Given the description of an element on the screen output the (x, y) to click on. 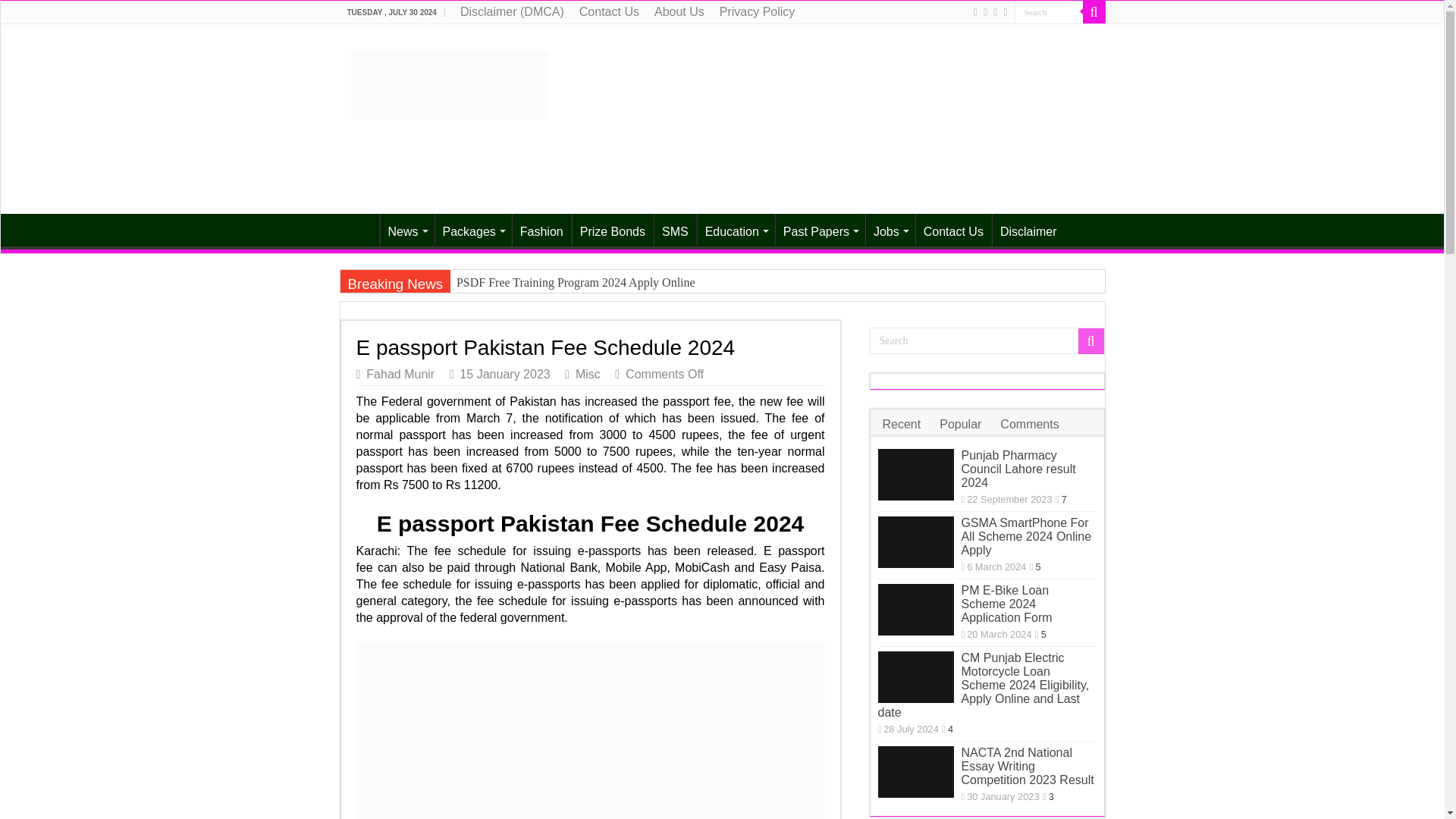
Fashion (541, 229)
Search (1048, 11)
PSDF Free Training Program 2024 Apply Online (720, 282)
About Us (678, 11)
Search (1048, 11)
Privacy Policy (757, 11)
Search (1094, 11)
Search (986, 340)
Home (358, 229)
News (405, 229)
Contact Us (609, 11)
Education (735, 229)
Search (1048, 11)
SMS (674, 229)
Prize Bonds (612, 229)
